Given the description of an element on the screen output the (x, y) to click on. 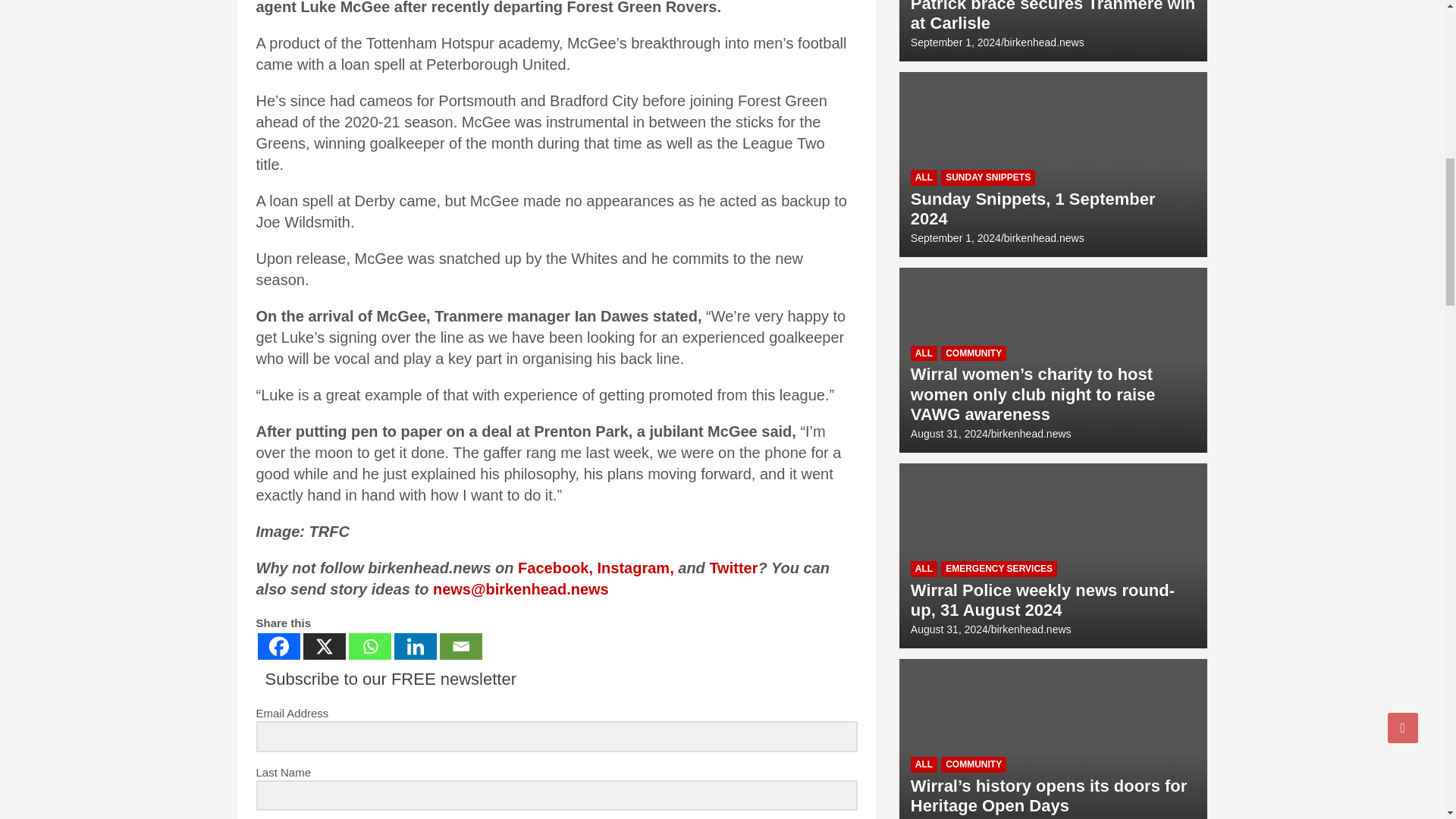
Email (460, 646)
Linkedin (415, 646)
X (324, 646)
Facebook (278, 646)
Whatsapp (370, 646)
